Given the description of an element on the screen output the (x, y) to click on. 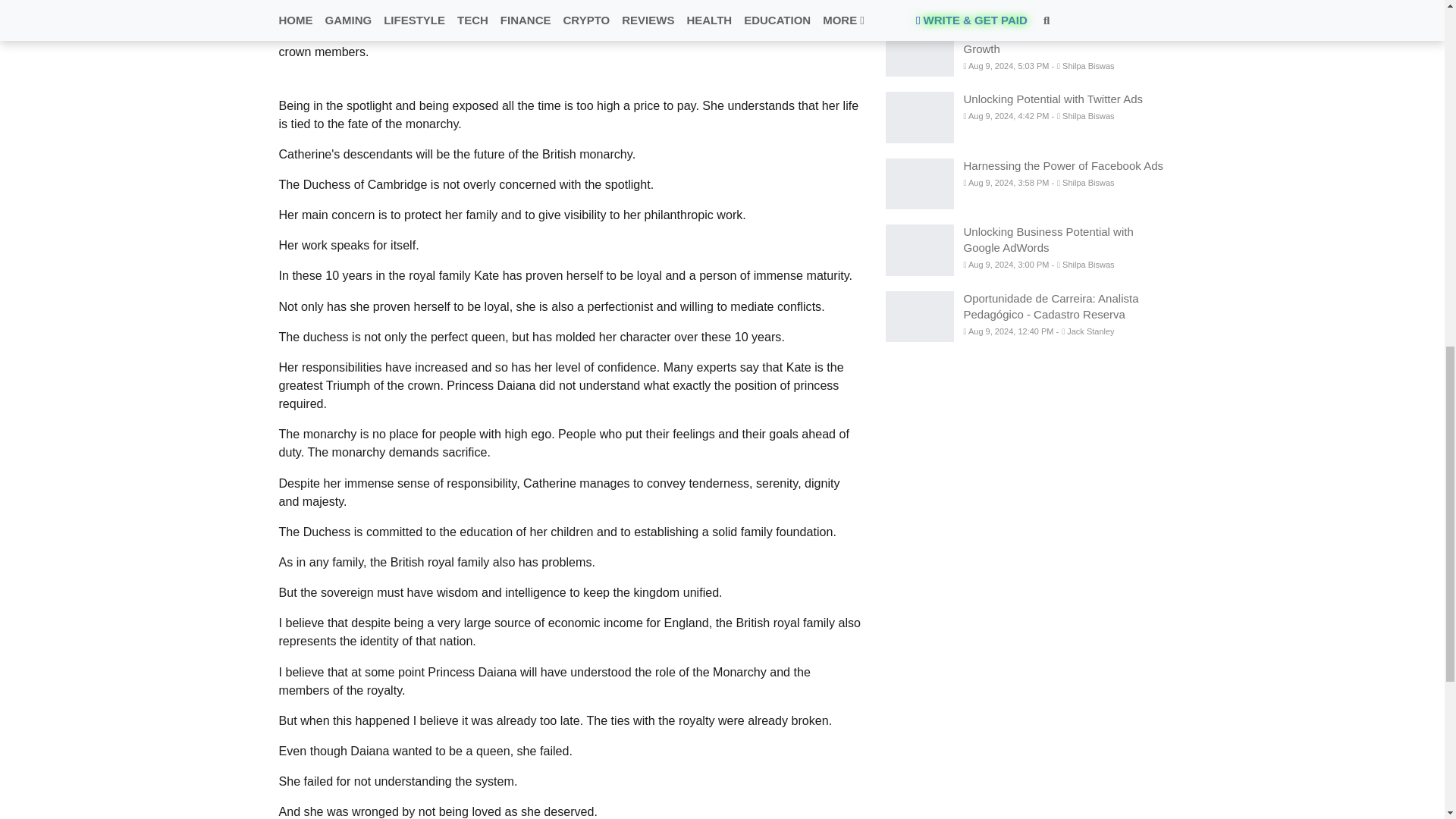
Leveraging LinkedIn Ads for Business Growth (919, 50)
Unlocking Potential with Twitter Ads (919, 117)
Harnessing the Power of Facebook Ads (919, 183)
Unlocking Business Potential with Google AdWords (919, 250)
